Given the description of an element on the screen output the (x, y) to click on. 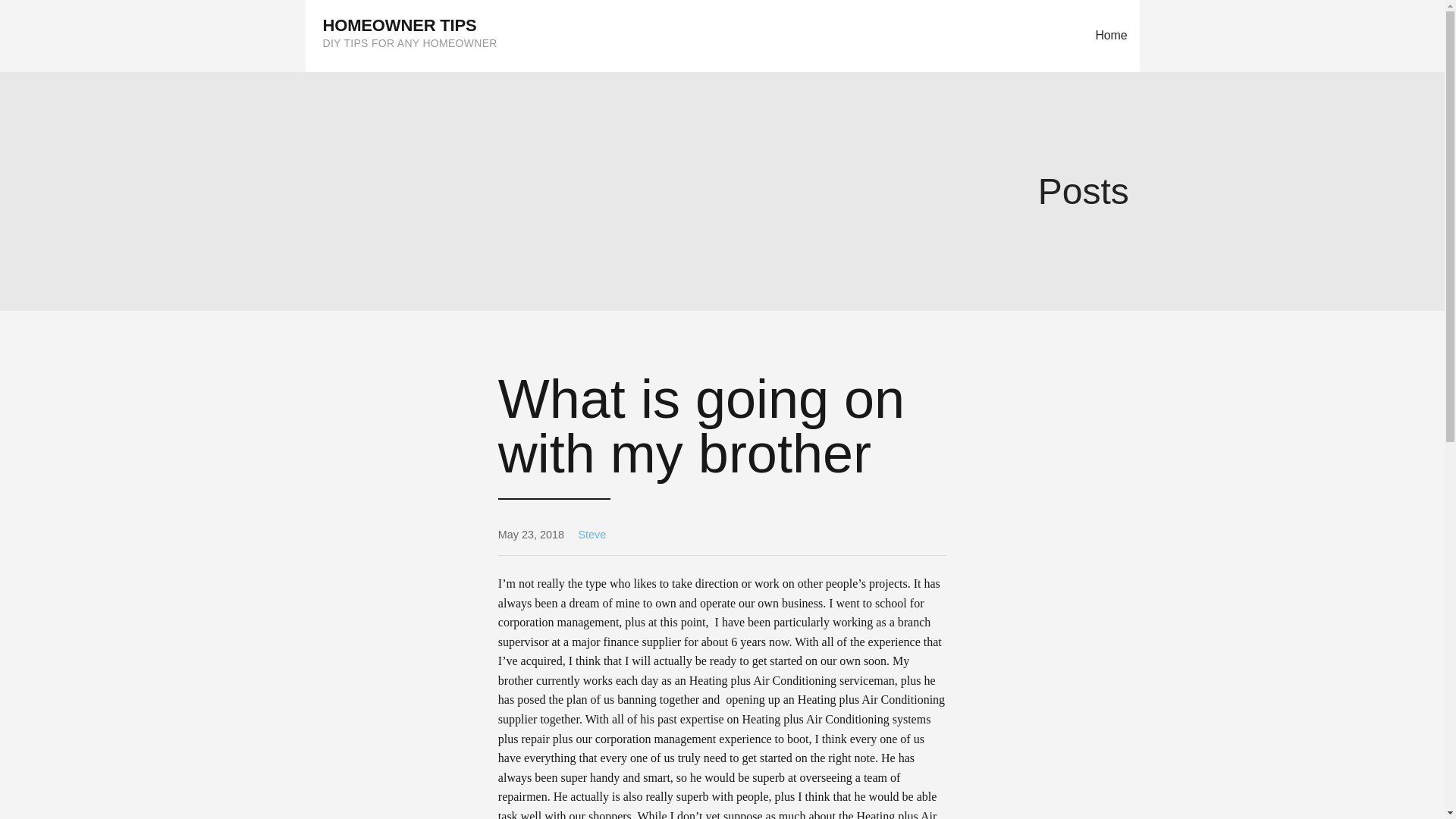
Steve (591, 534)
Posts by Steve (591, 534)
HOMEOWNER TIPS (400, 25)
